Given the description of an element on the screen output the (x, y) to click on. 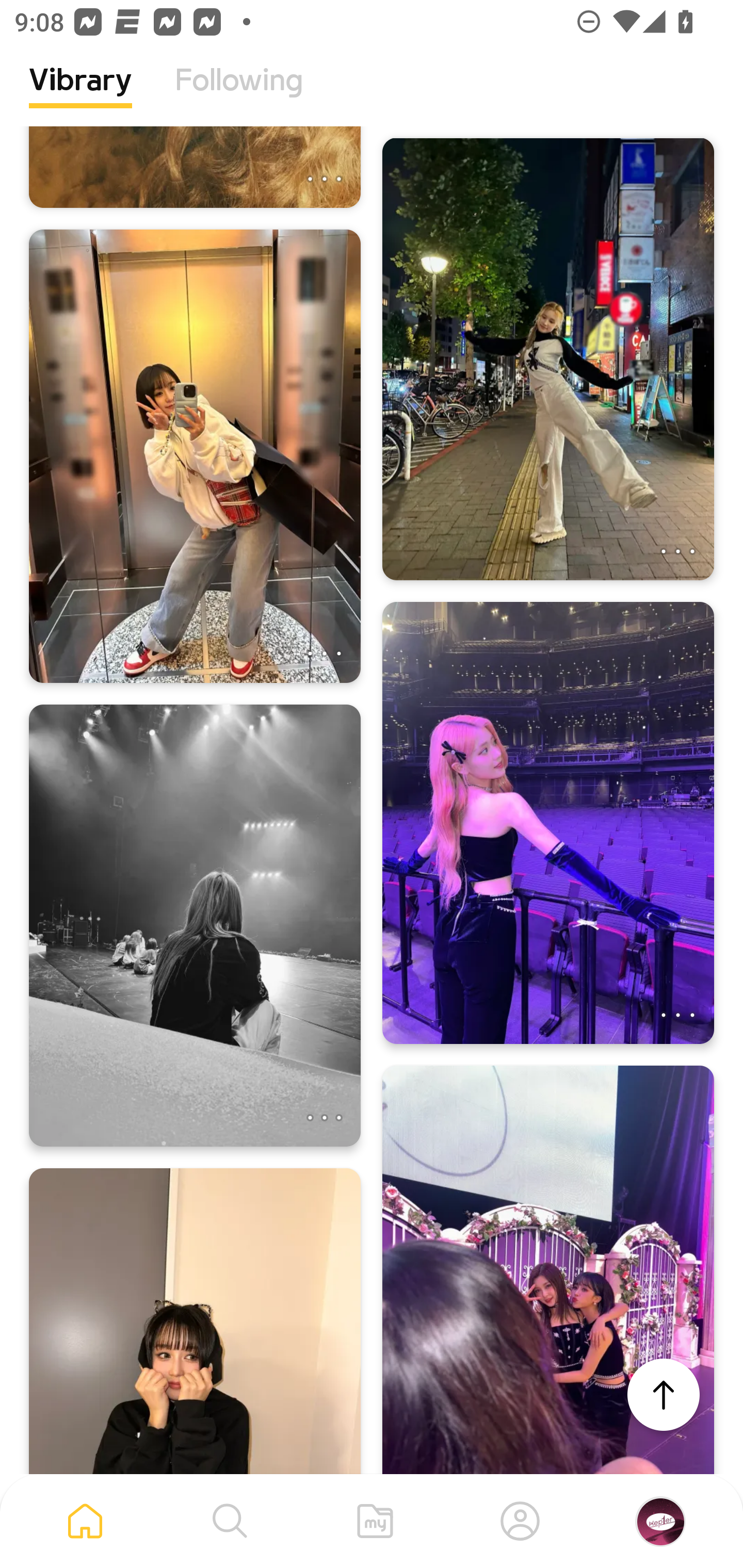
Vibrary (80, 95)
Following (239, 95)
